Given the description of an element on the screen output the (x, y) to click on. 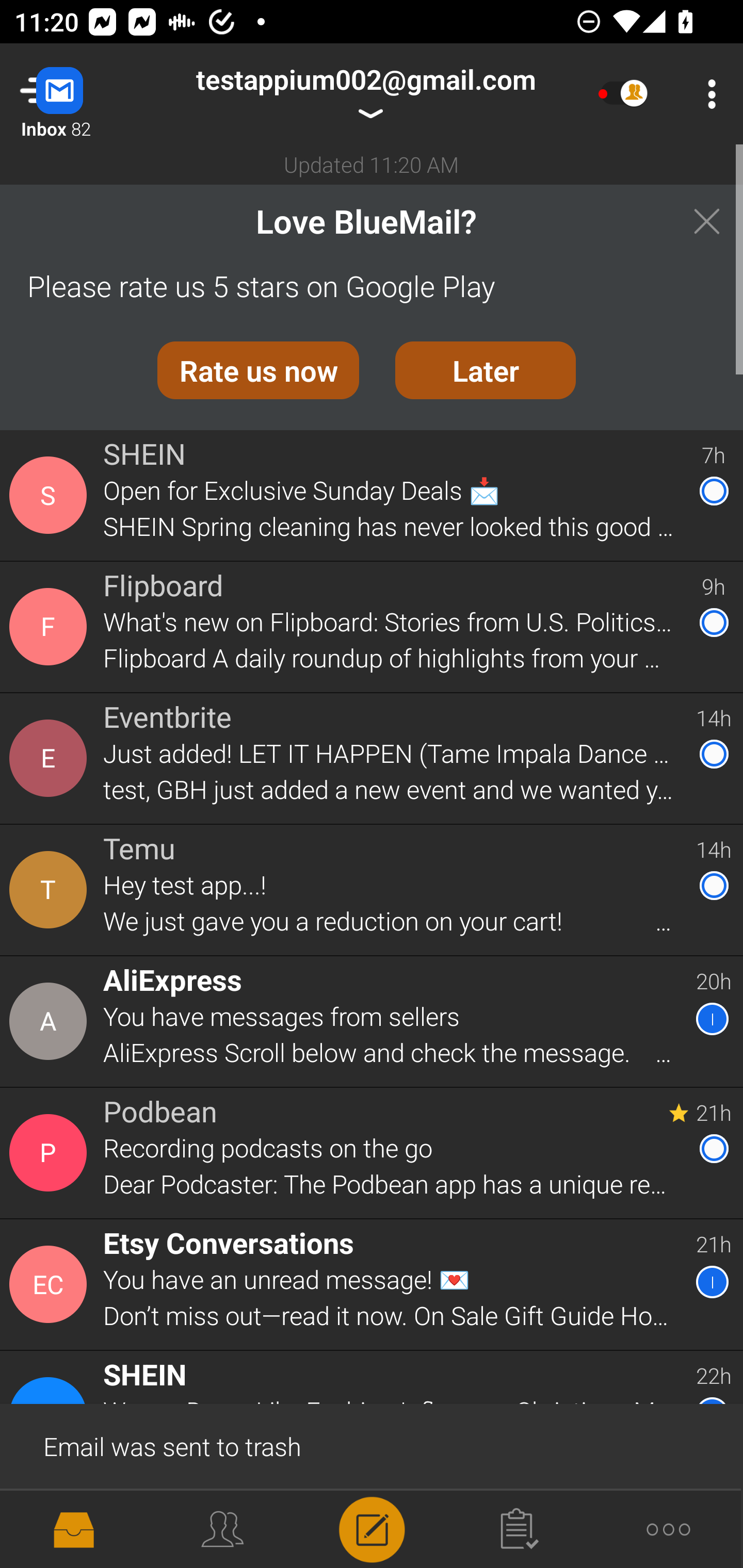
Navigate up (81, 93)
testappium002@gmail.com (365, 93)
More Options (706, 93)
Updated 11:20 AM (371, 164)
Rate us now (257, 370)
Later (485, 370)
Contact Details (50, 495)
Contact Details (50, 626)
Contact Details (50, 758)
Contact Details (50, 889)
Contact Details (50, 1021)
Contact Details (50, 1153)
Contact Details (50, 1284)
Email was sent to trash (371, 1445)
Contact Details (50, 1524)
Compose (371, 1528)
